Given the description of an element on the screen output the (x, y) to click on. 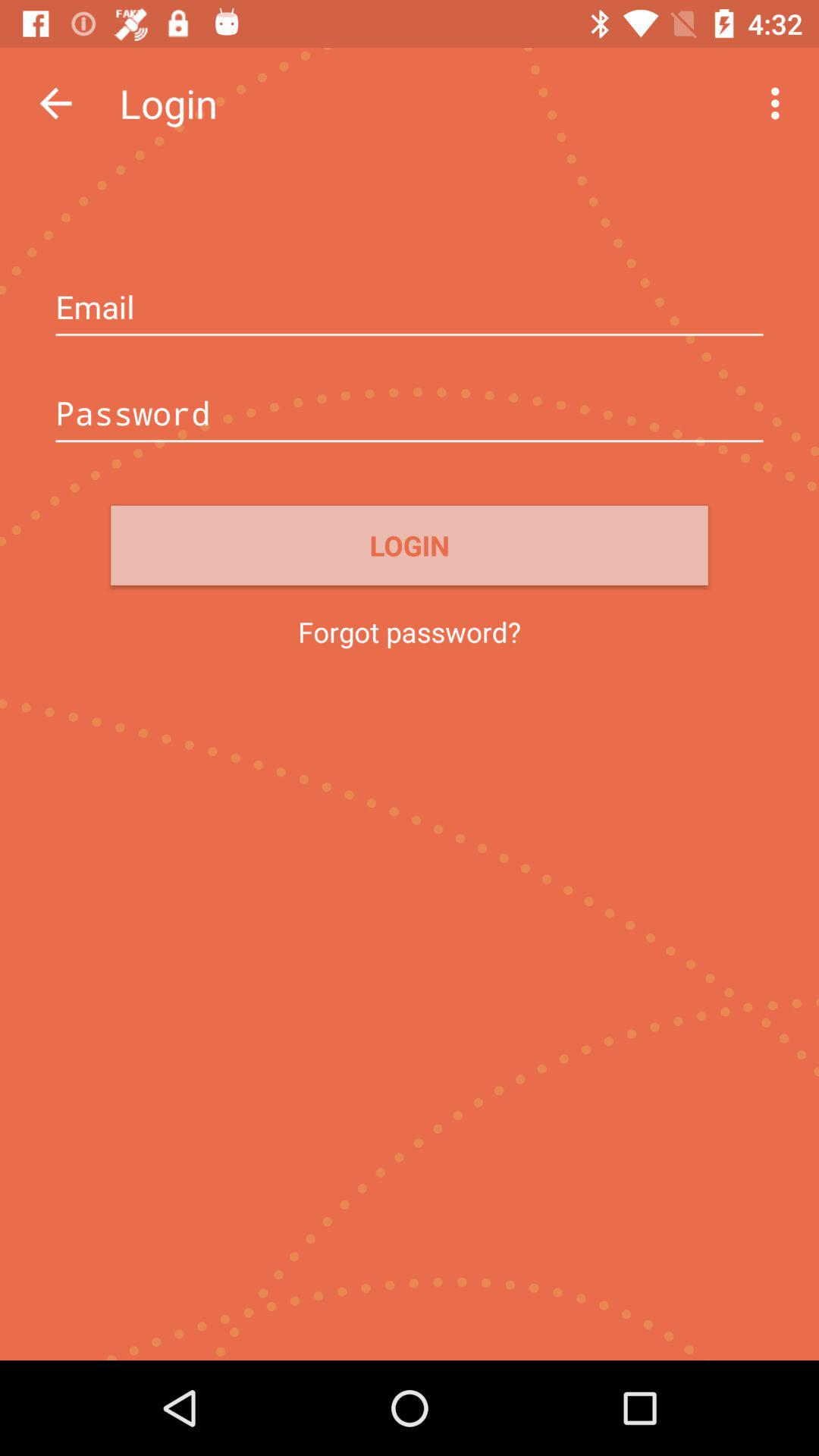
enter email address (409, 308)
